Given the description of an element on the screen output the (x, y) to click on. 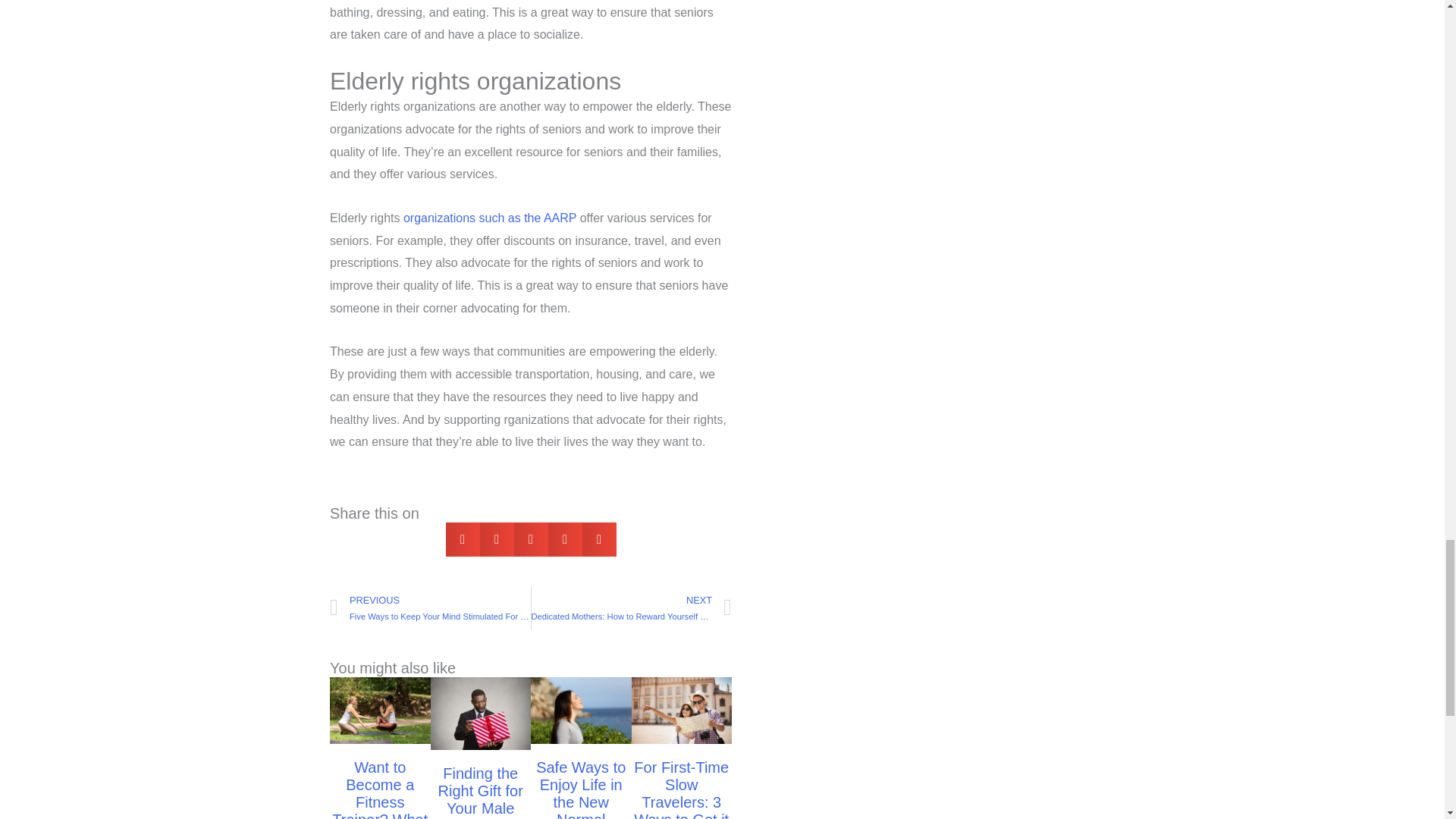
For First-Time Slow Travelers: 3 Ways to Get it Right (681, 789)
Want to Become a Fitness Trainer? What are Your Steps (379, 789)
organizations such as the AARP (489, 217)
Finding the Right Gift for Your Male Friend (480, 791)
Safe Ways to Enjoy Life in the New Normal (580, 789)
